Given the description of an element on the screen output the (x, y) to click on. 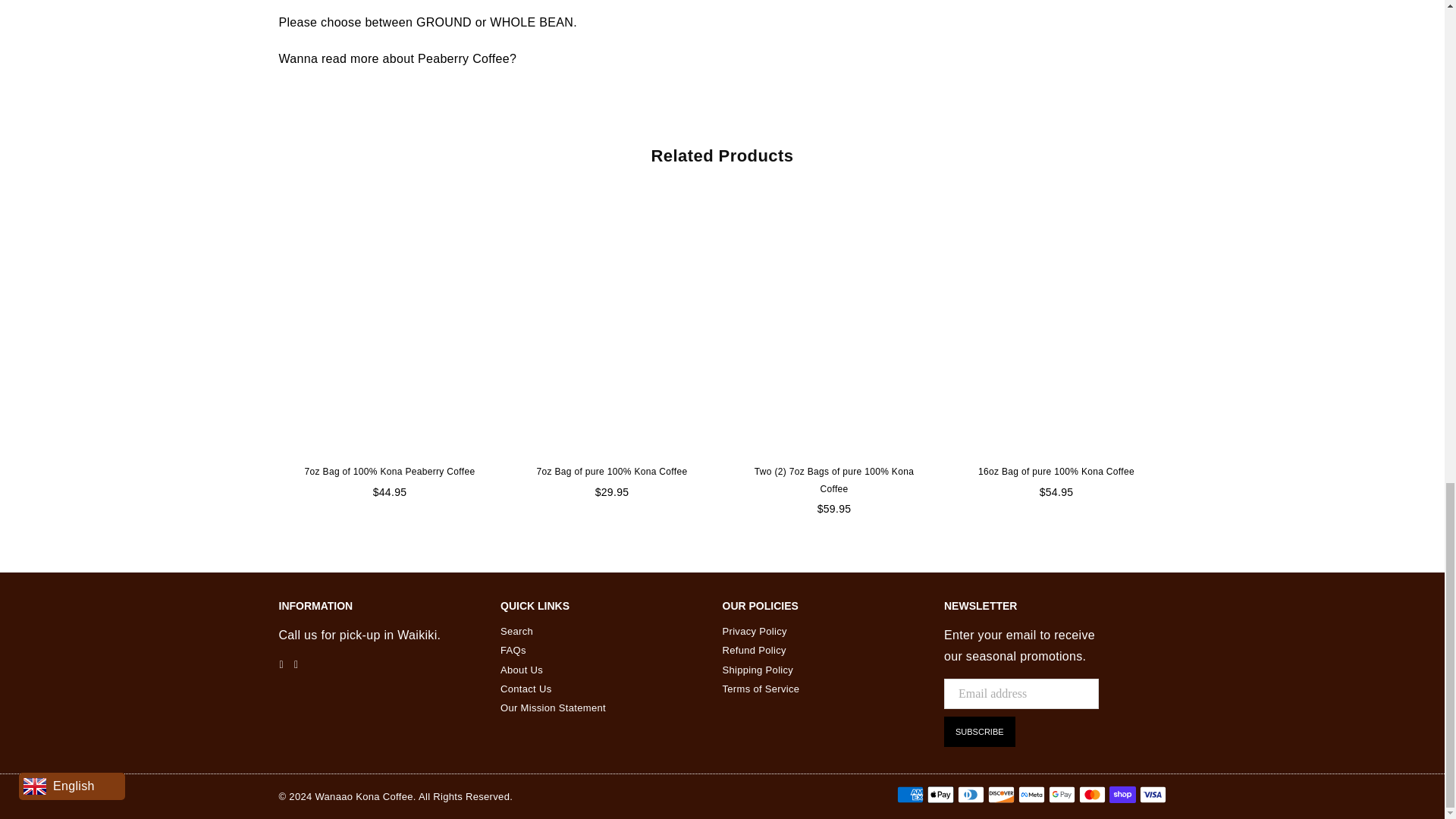
Diners Club (970, 794)
Wana'ao Kona Coffee on Facebook (281, 664)
Visa (1152, 794)
American Express (909, 794)
Google Pay (1061, 794)
Apple Pay (939, 794)
Meta Pay (1030, 794)
Discover (1000, 794)
Wana'ao Kona Coffee on Instagram (295, 664)
Kona Peaberry Coffee (466, 62)
